Given the description of an element on the screen output the (x, y) to click on. 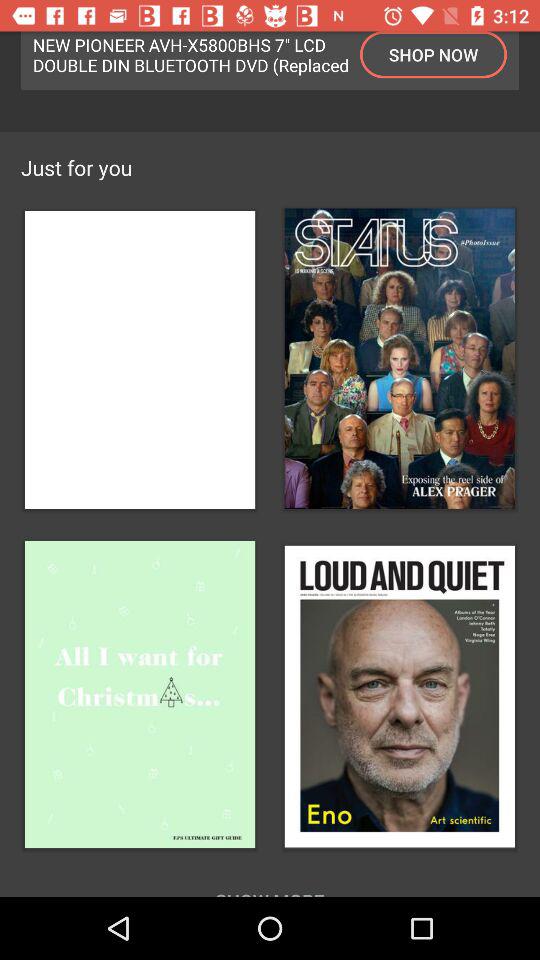
tap the new pioneer avh icon (191, 54)
